Given the description of an element on the screen output the (x, y) to click on. 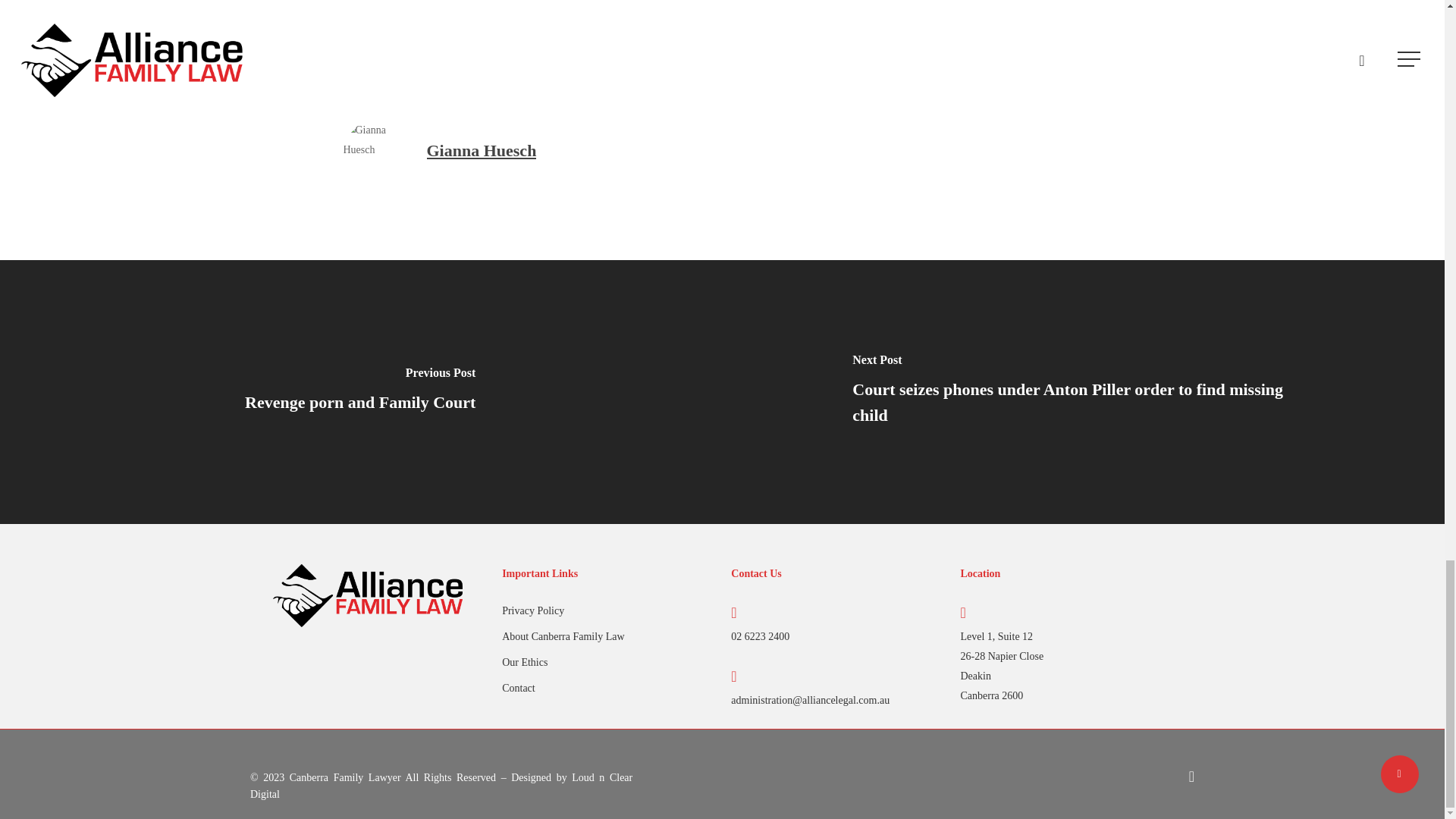
About Canberra Family Law (607, 637)
Contact (607, 688)
Our Ethics (607, 662)
Privacy Policy (607, 610)
02 6223 2400 (759, 636)
Gianna Huesch (480, 149)
